Given the description of an element on the screen output the (x, y) to click on. 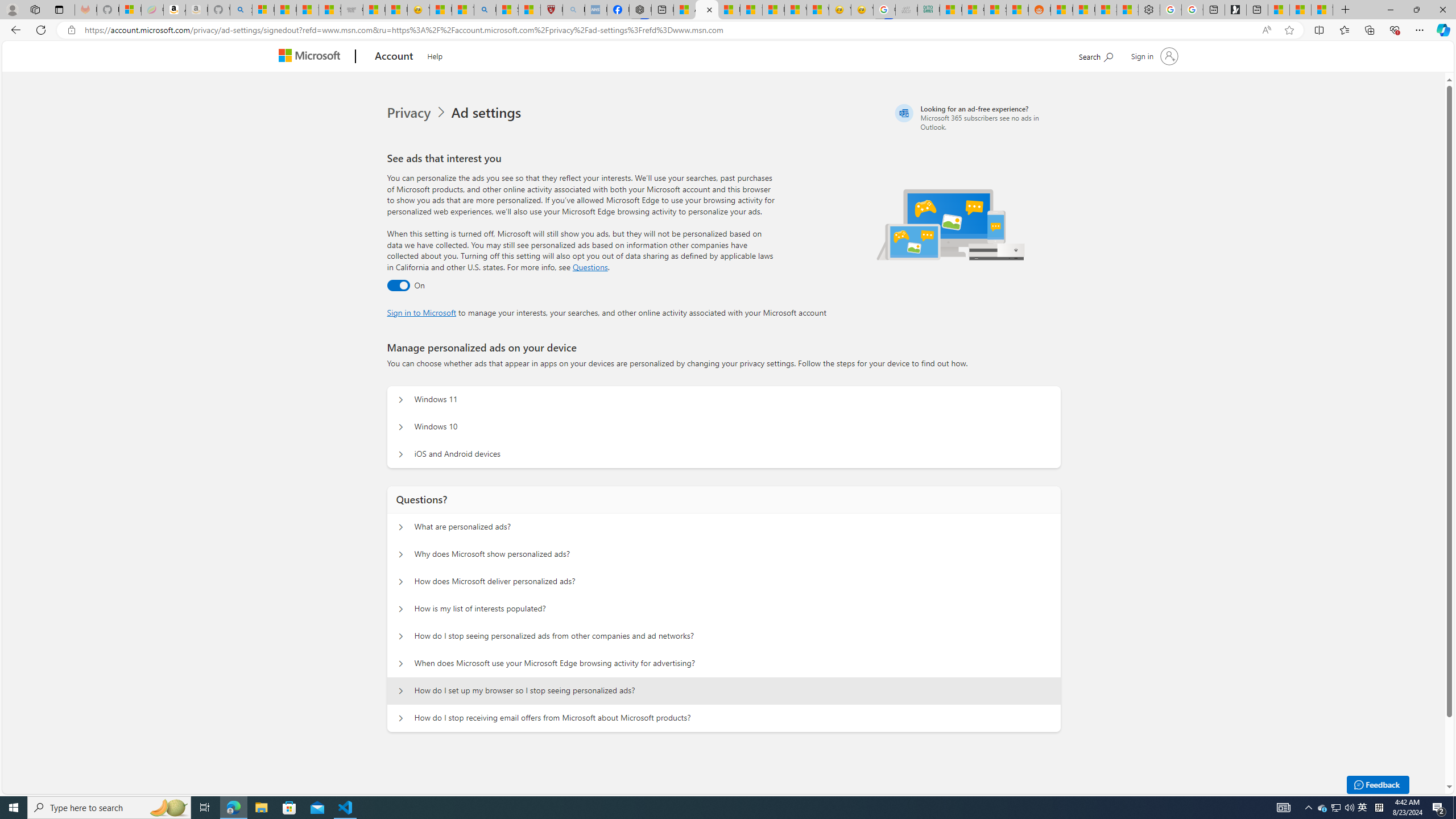
R******* | Trusted Community Engagement and Contributions (1061, 9)
Sign in to your account (1153, 55)
12 Popular Science Lies that Must be Corrected (529, 9)
Manage personalized ads on your device Windows 10 (401, 427)
Ad settings toggle (398, 285)
